Given the description of an element on the screen output the (x, y) to click on. 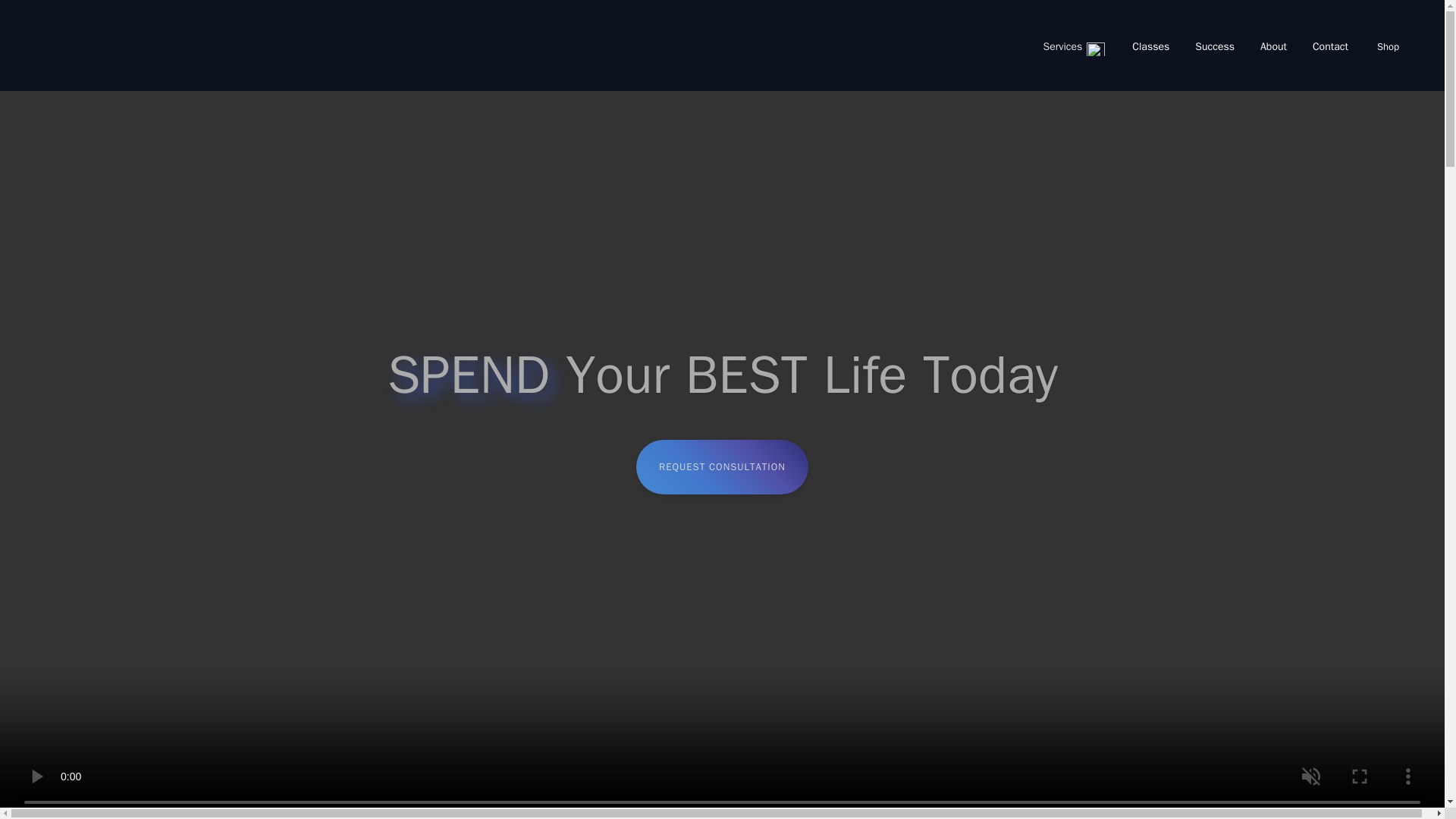
Success (1214, 47)
About (1273, 47)
Shop (1387, 46)
SPEND (468, 374)
Classes (1150, 47)
REQUEST CONSULTATION (722, 466)
Contact (1330, 47)
